Given the description of an element on the screen output the (x, y) to click on. 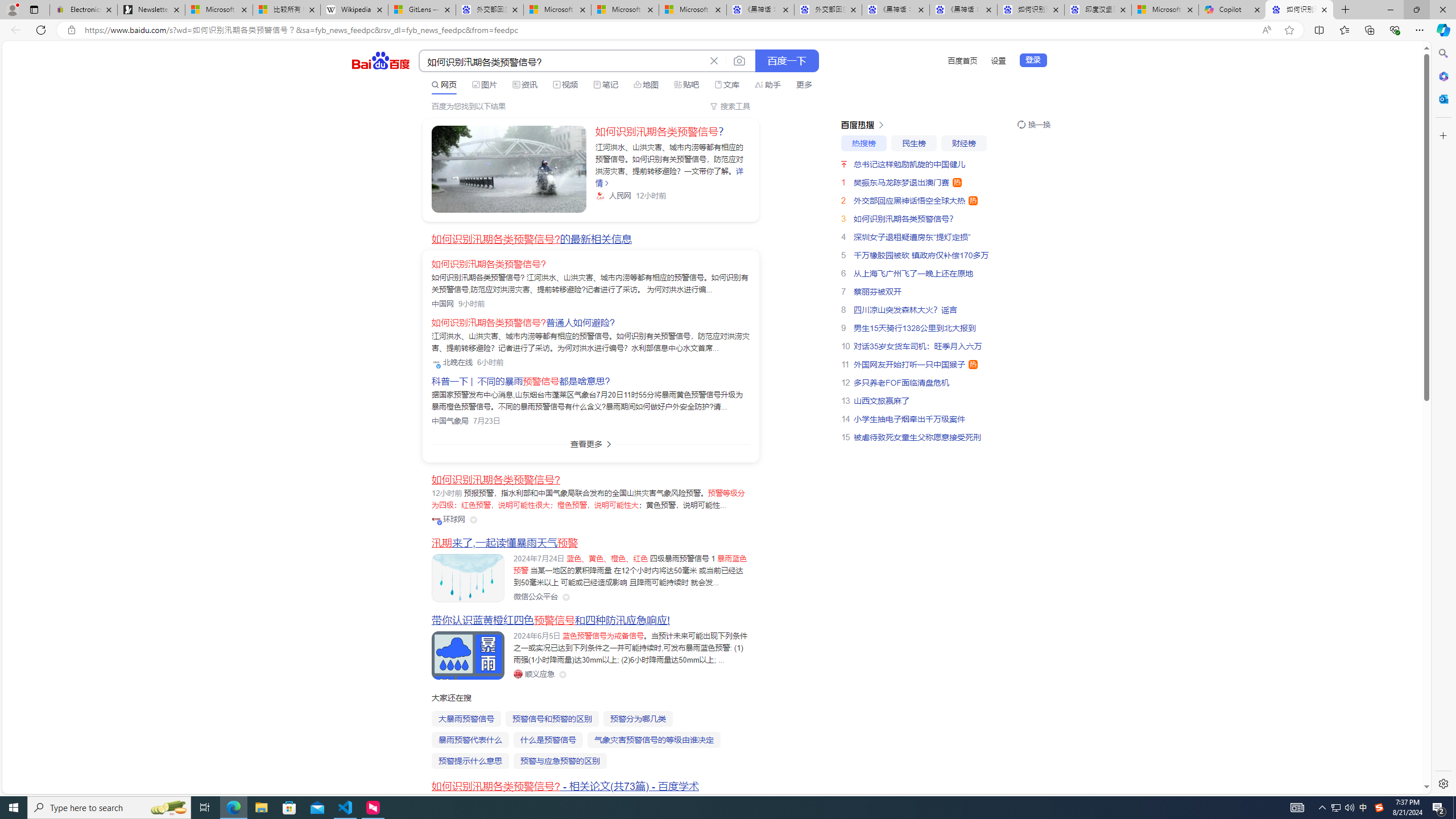
Class: sc-link _link_kwqvb_2 -v-color-primary block (508, 168)
Class: vip-icon_kNmNt (439, 522)
